Given the description of an element on the screen output the (x, y) to click on. 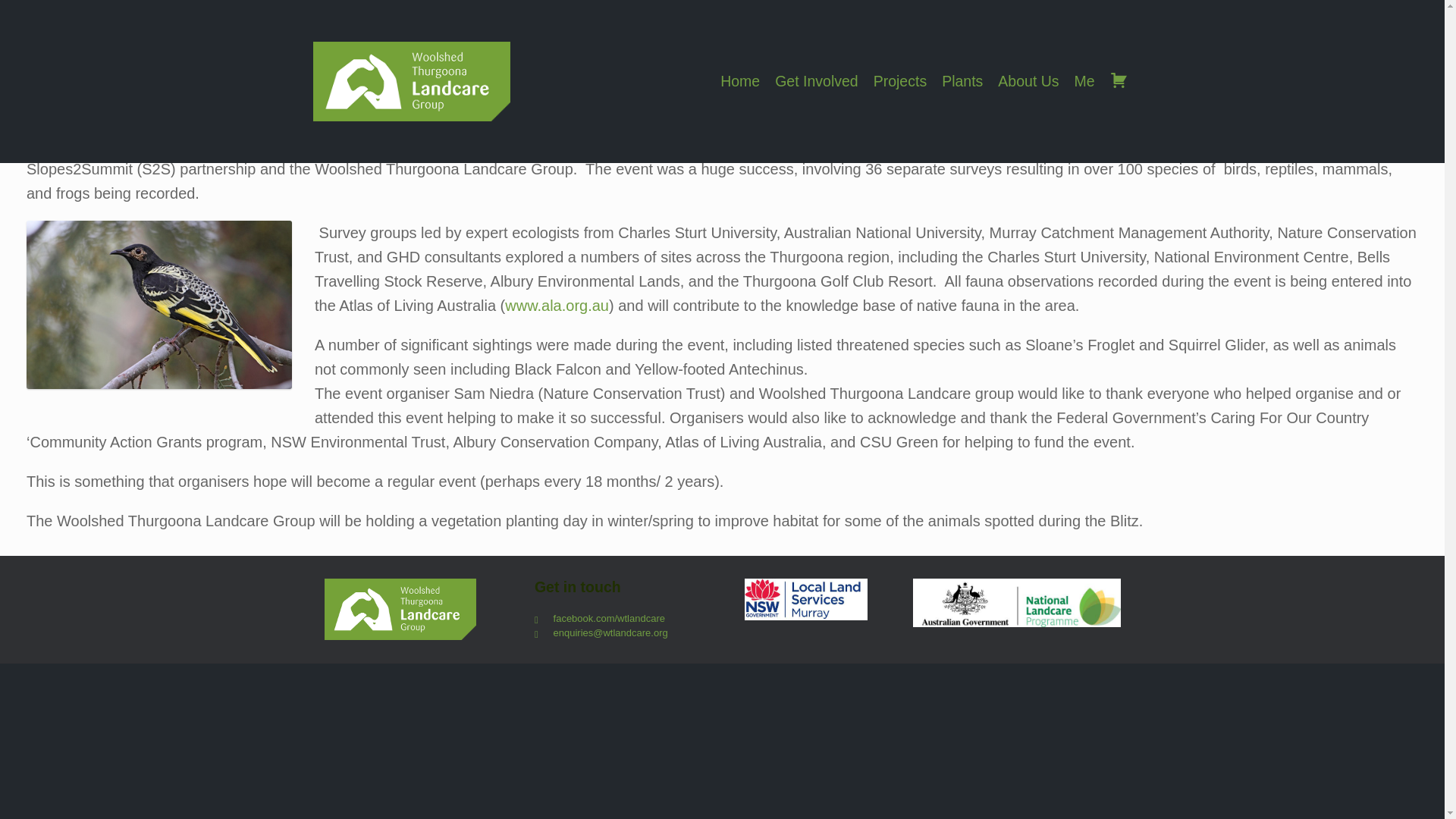
Home (740, 81)
Get Involved (815, 81)
www.ala.org.au (556, 305)
Projects (899, 81)
About Us (1027, 81)
WT Landcare Flora Index (411, 81)
Plants (962, 81)
Woolshed Thurgoona Landcare (400, 608)
